Given the description of an element on the screen output the (x, y) to click on. 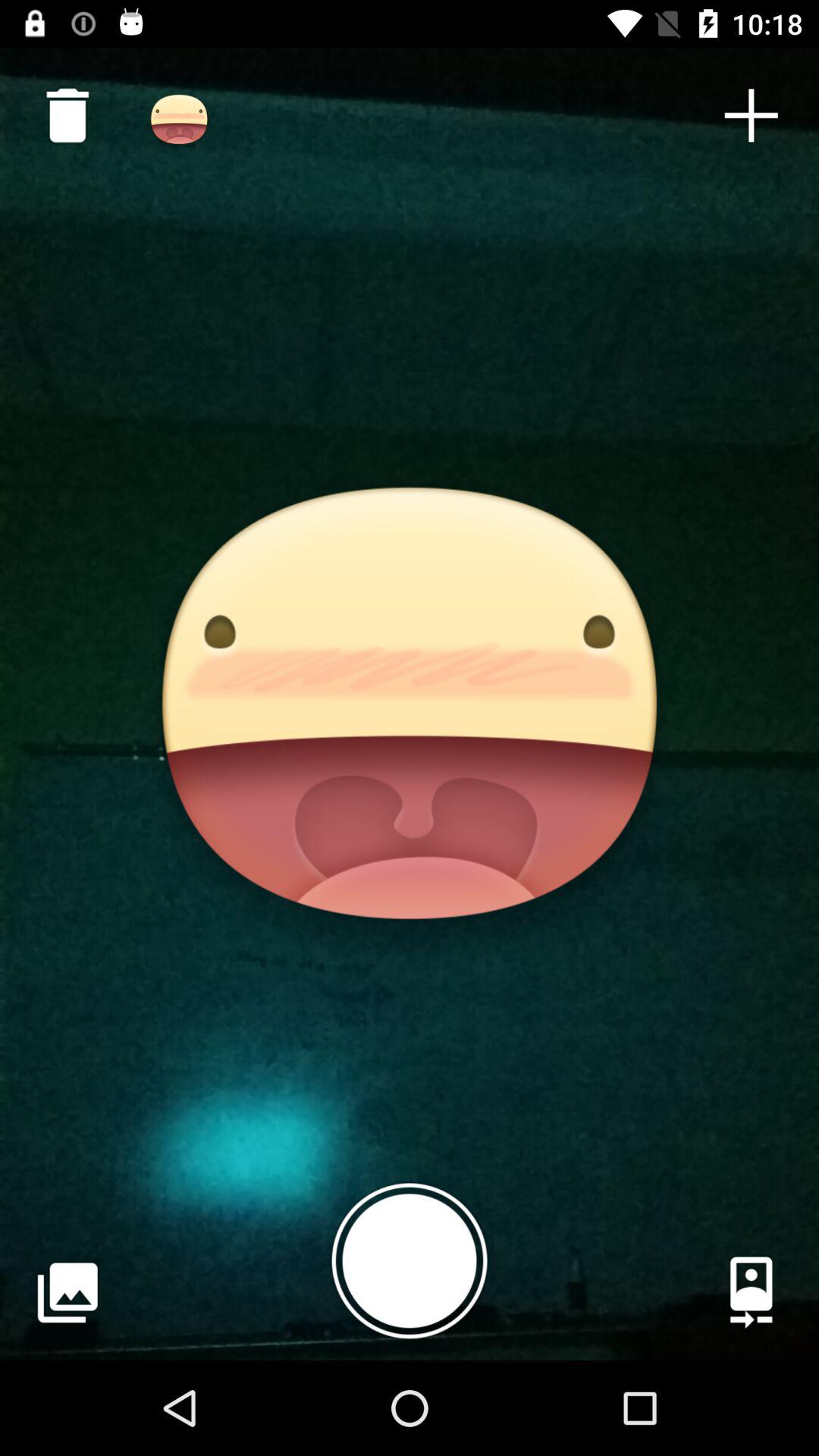
open the icon at the top right corner (751, 115)
